Given the description of an element on the screen output the (x, y) to click on. 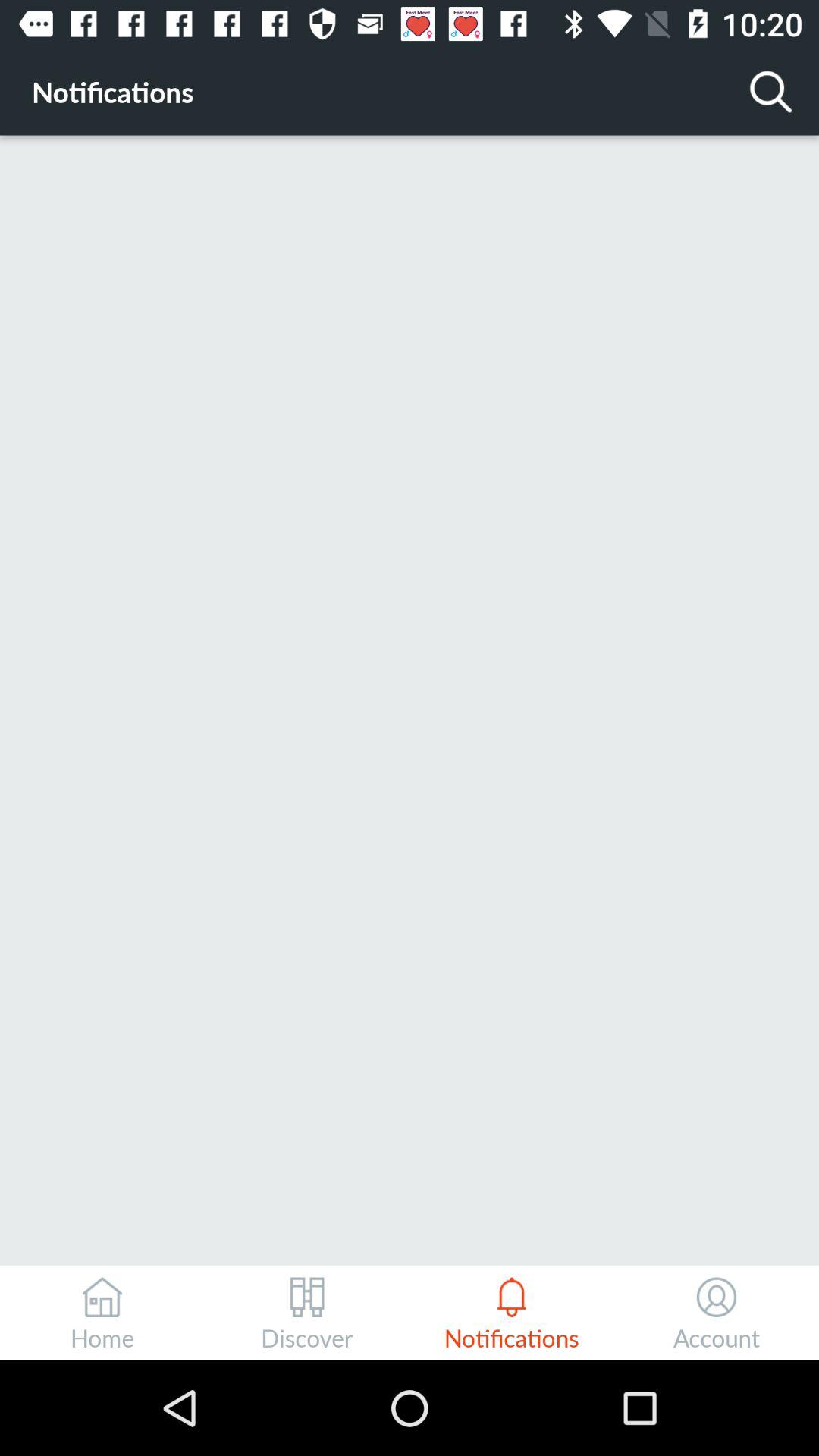
launch icon at the top right corner (771, 91)
